Given the description of an element on the screen output the (x, y) to click on. 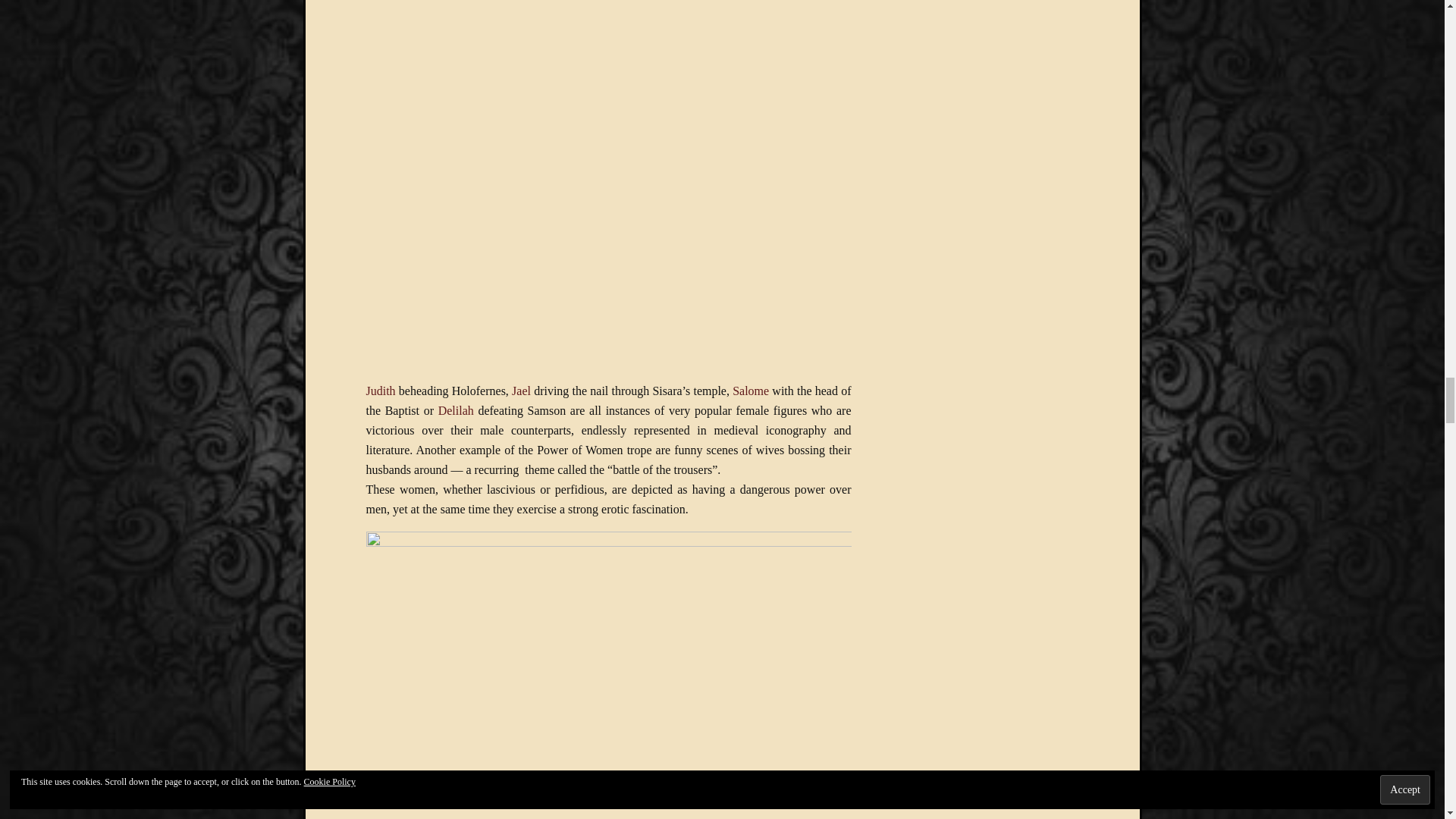
Judith (379, 390)
Jael (521, 390)
Delilah (456, 410)
Salome (750, 390)
